Given the description of an element on the screen output the (x, y) to click on. 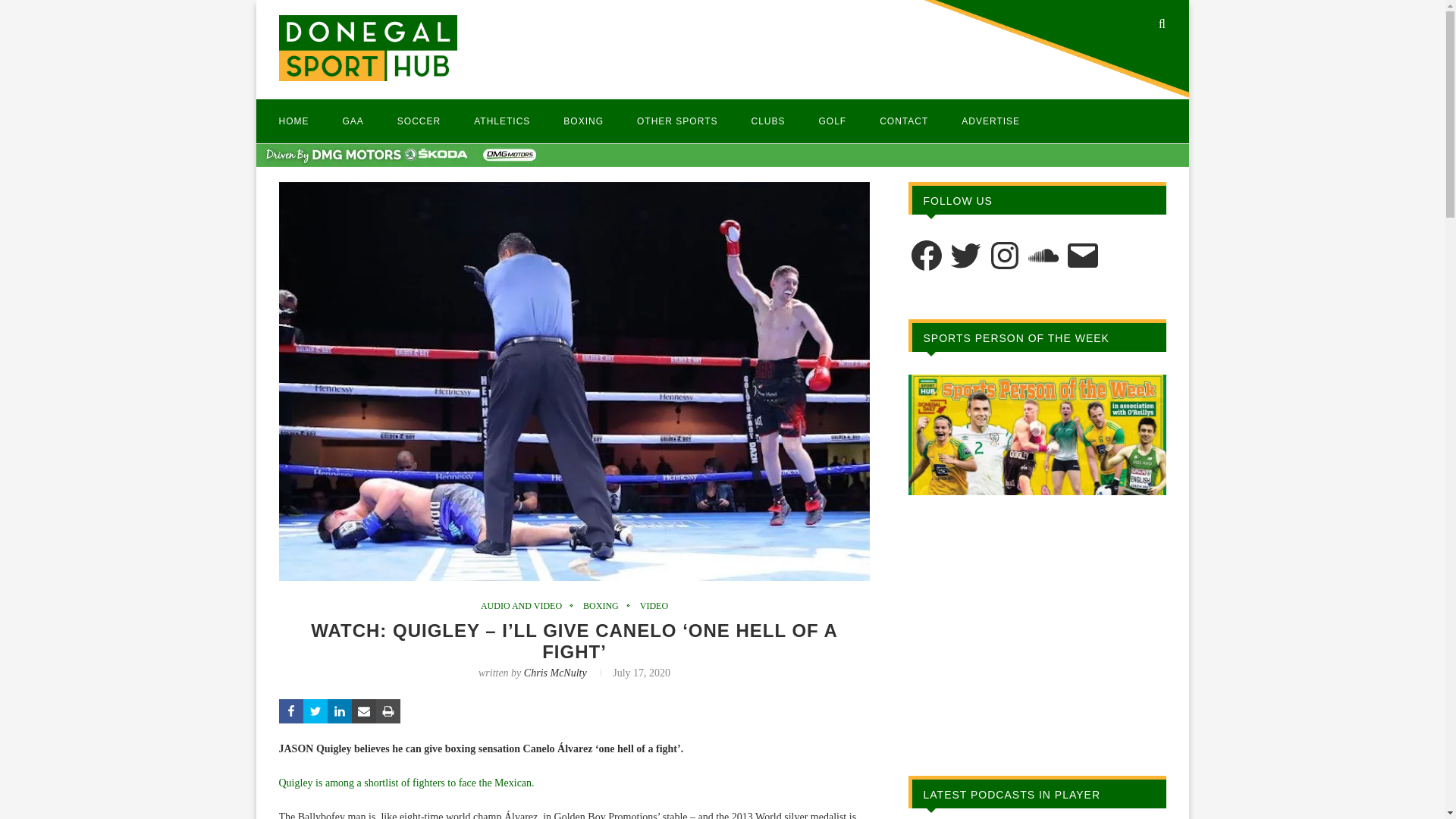
VIDEO (654, 605)
OTHER SPORTS (677, 121)
Share on Twitter (314, 711)
View all posts in Video (654, 605)
View all posts in Audio and Video (524, 605)
AUDIO AND VIDEO (524, 605)
View all posts in Boxing (604, 605)
CONTACT (903, 121)
ADVERTISE (990, 121)
BOXING (604, 605)
Share on Facebook (290, 711)
Chris McNulty (555, 672)
Share via Email (363, 711)
Share on LinkedIn (339, 711)
BOXING (583, 121)
